Given the description of an element on the screen output the (x, y) to click on. 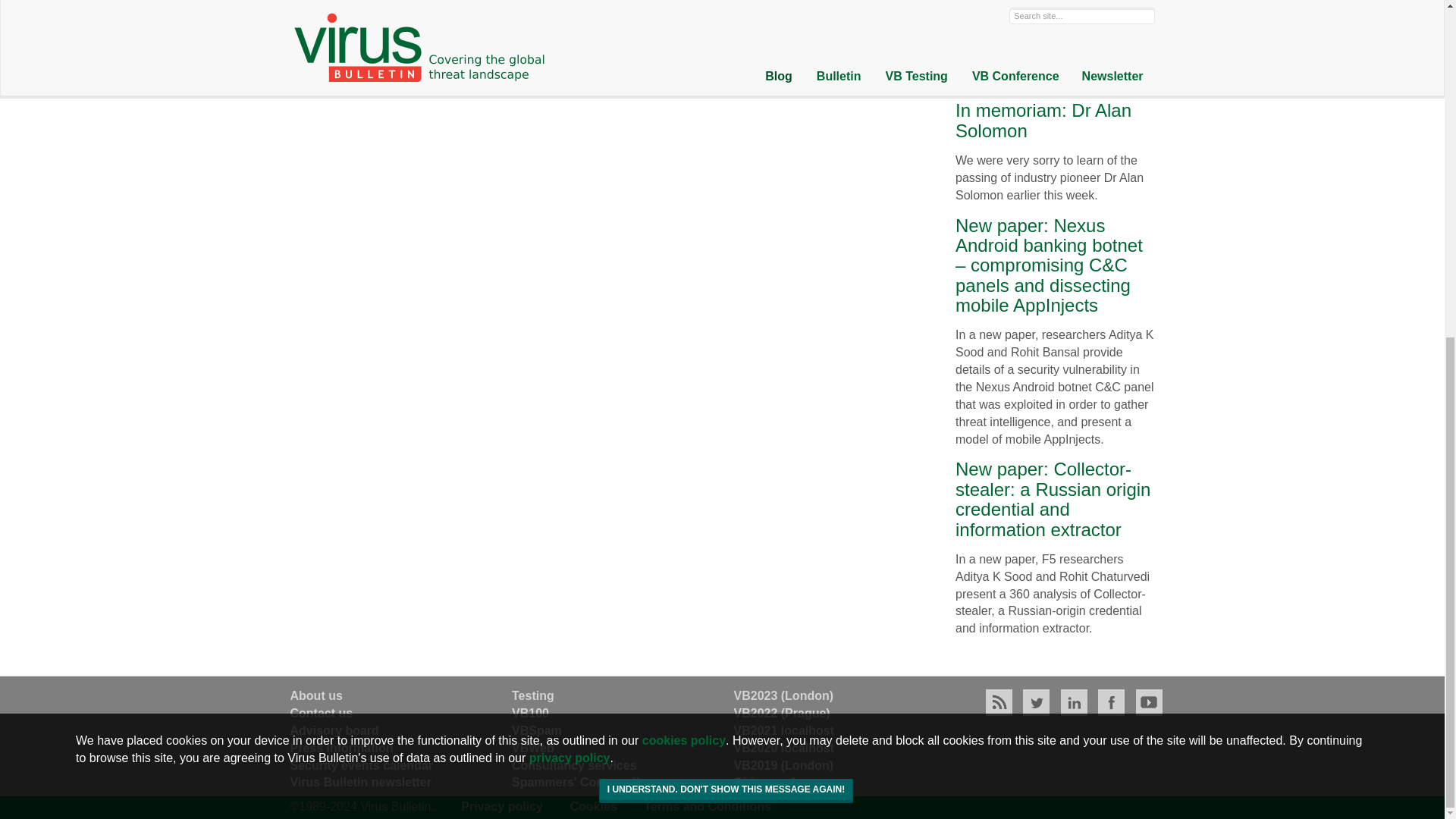
About us (315, 695)
Consultancy services (574, 765)
VBWeb (533, 748)
Advisory Board (333, 730)
In memoriam: Dr Alan Solomon (1043, 119)
VBSpam (537, 730)
Security events calendar (360, 765)
VB Testing (533, 695)
Advisory board (333, 730)
About Us (315, 695)
here (904, 5)
VBSpam (537, 730)
Virus Bulletin newsletter (359, 781)
The Spammers' Compendium (585, 781)
VB100 (530, 712)
